Given the description of an element on the screen output the (x, y) to click on. 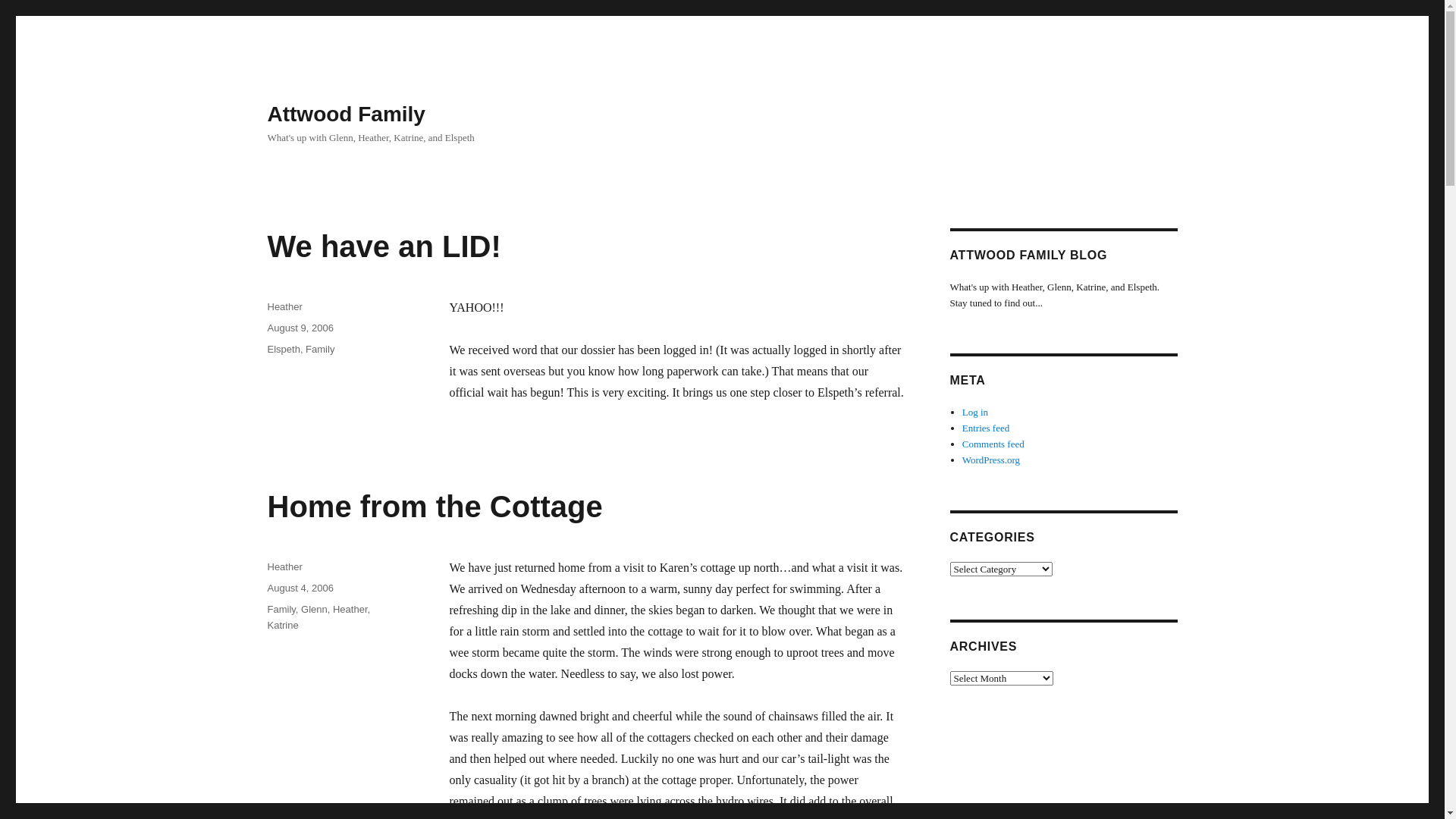
Glenn Element type: text (314, 609)
Entries feed Element type: text (985, 427)
August 9, 2006 Element type: text (299, 327)
Home from the Cottage Element type: text (434, 506)
WordPress.org Element type: text (990, 459)
Family Element type: text (319, 348)
Heather Element type: text (283, 566)
We have an LID! Element type: text (383, 246)
Heather Element type: text (349, 609)
Comments feed Element type: text (993, 443)
Log in Element type: text (975, 411)
Heather Element type: text (283, 306)
Attwood Family Element type: text (345, 113)
Elspeth Element type: text (282, 348)
Katrine Element type: text (282, 624)
August 4, 2006 Element type: text (299, 587)
Family Element type: text (280, 609)
